Given the description of an element on the screen output the (x, y) to click on. 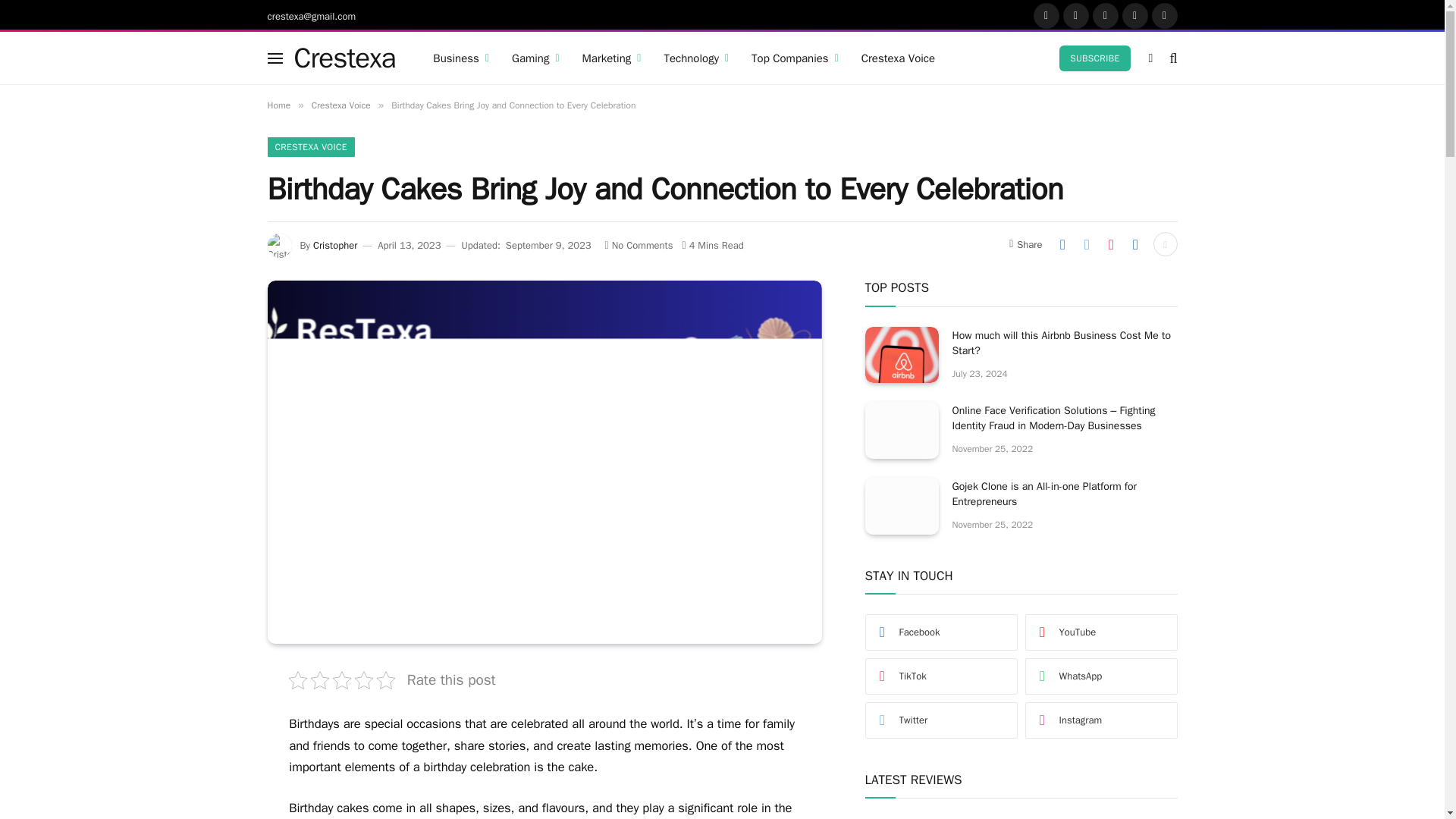
Crestexa Voice (898, 57)
Technology (695, 57)
Facebook (1045, 15)
Instagram (1105, 15)
Crestexa (345, 57)
Business (461, 57)
Vimeo (1163, 15)
Share on Pinterest (1110, 243)
Posts by Cristopher (334, 245)
Share on LinkedIn (1135, 243)
